Given the description of an element on the screen output the (x, y) to click on. 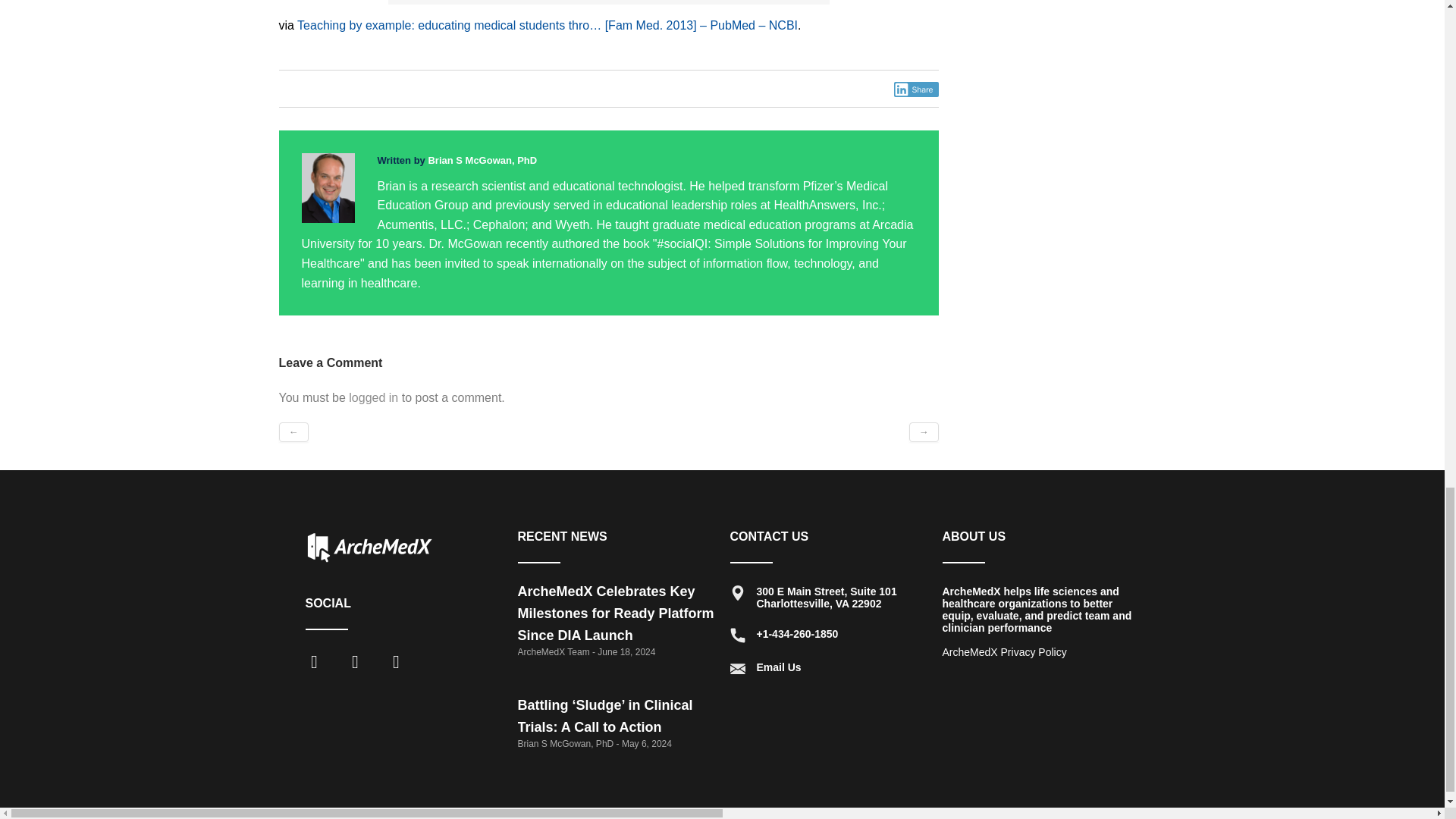
Share (916, 89)
Brian S McGowan, PhD (482, 160)
Posts by Brian S McGowan, PhD (482, 160)
